Given the description of an element on the screen output the (x, y) to click on. 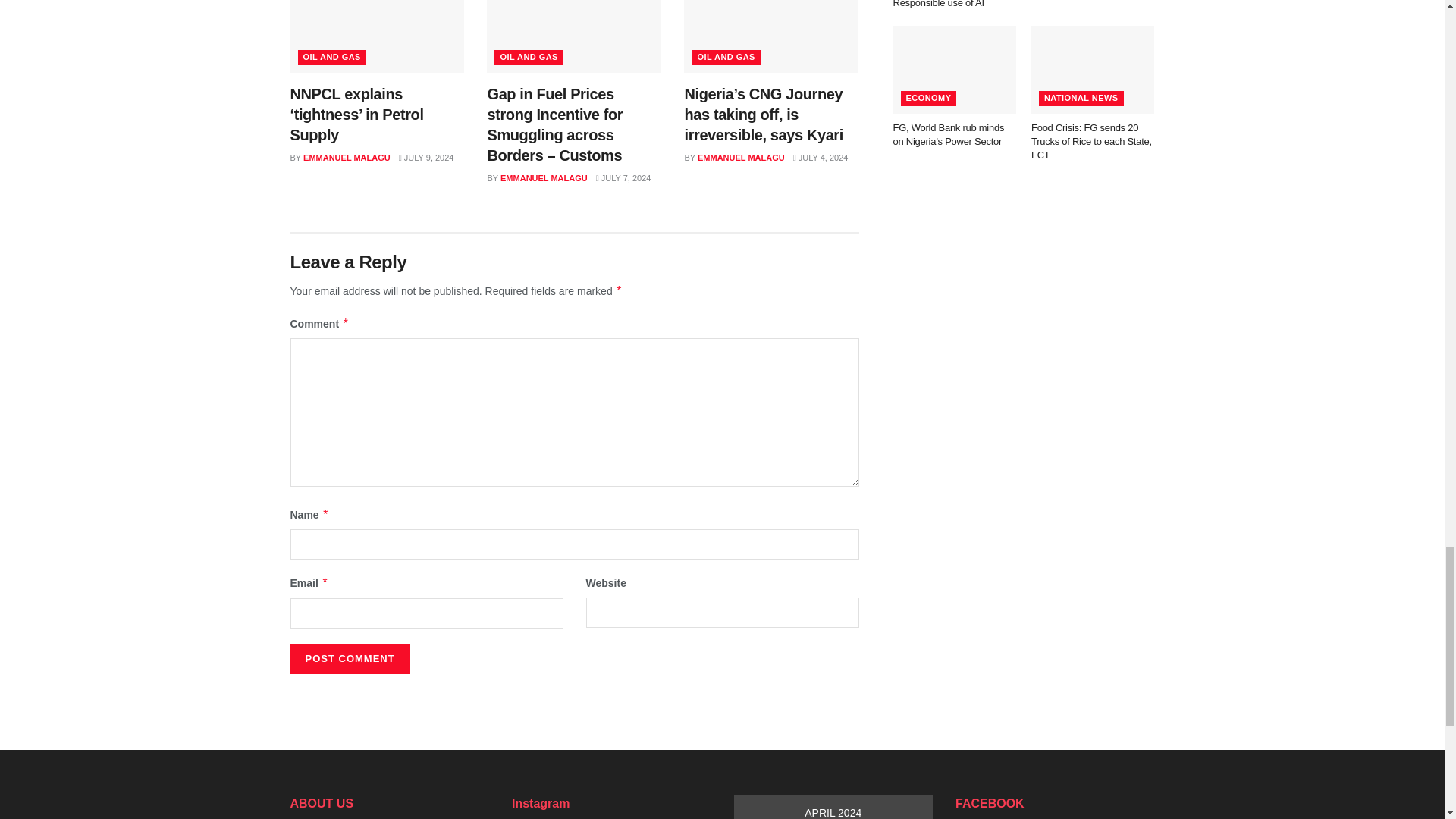
Post Comment (349, 658)
